Given the description of an element on the screen output the (x, y) to click on. 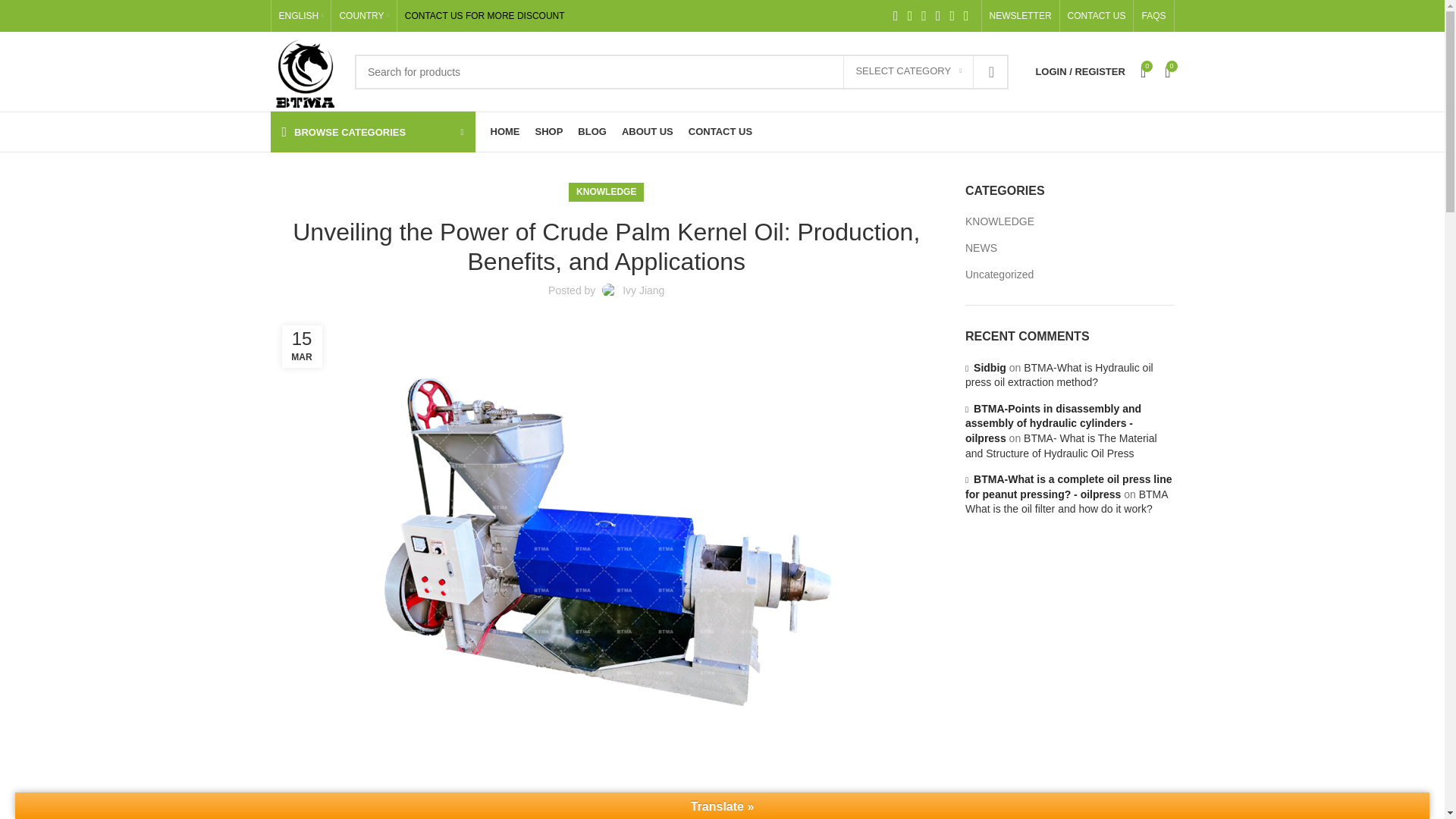
My account (1079, 71)
ENGLISH (301, 15)
NEWSLETTER (1020, 15)
SELECT CATEGORY (908, 71)
SEARCH (991, 71)
CONTACT US (1096, 15)
Search for products (682, 71)
COUNTRY (363, 15)
SELECT CATEGORY (908, 71)
